Given the description of an element on the screen output the (x, y) to click on. 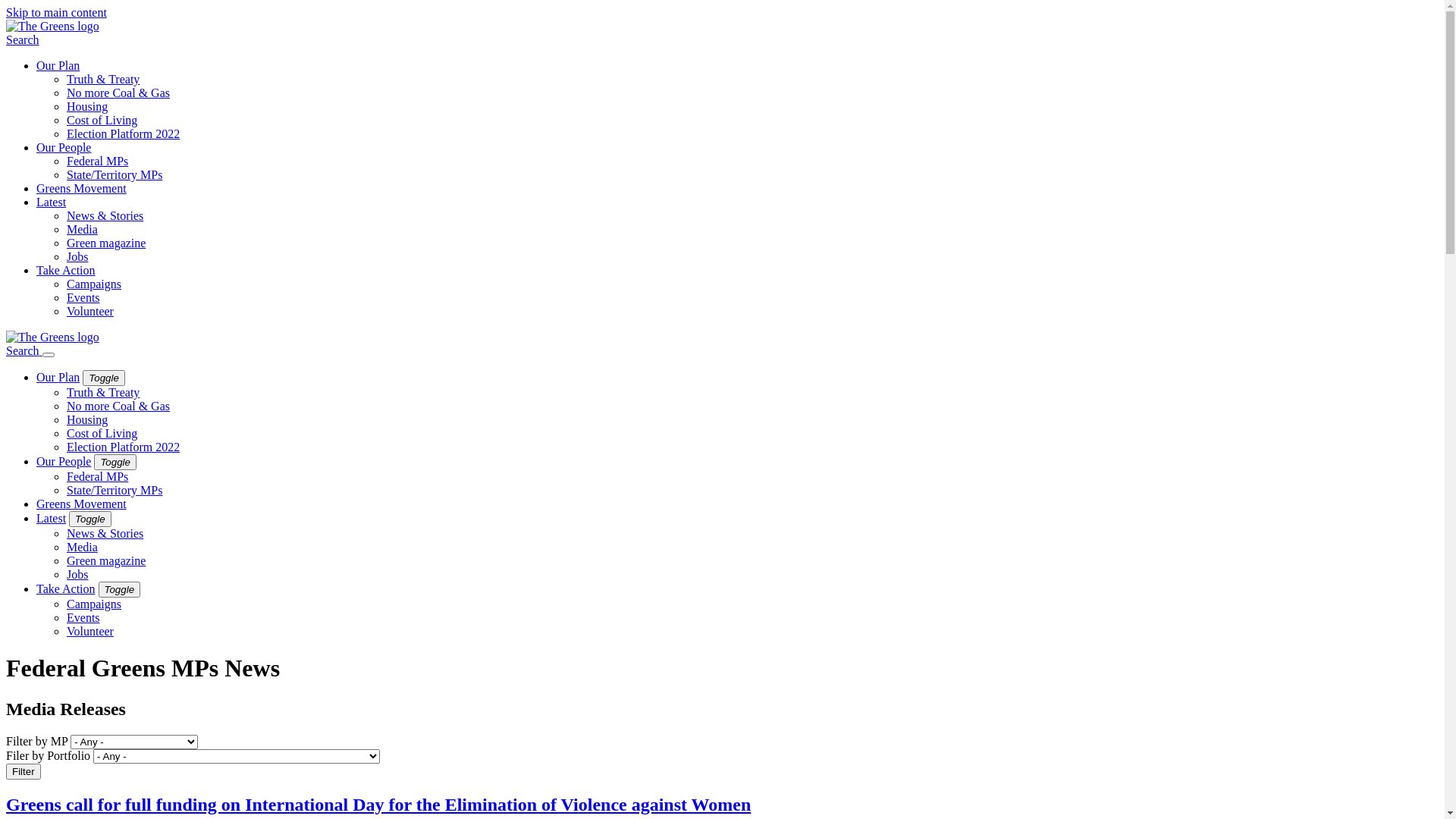
Filter Element type: text (23, 771)
Cost of Living Element type: text (101, 432)
Jobs Element type: text (76, 573)
News & Stories Element type: text (104, 533)
Media Element type: text (81, 228)
Truth & Treaty Element type: text (102, 391)
Our Plan Element type: text (57, 376)
State/Territory MPs Element type: text (114, 489)
Events Element type: text (83, 617)
Latest Element type: text (50, 517)
Our People Element type: text (63, 147)
Toggle Element type: text (90, 519)
No more Coal & Gas Element type: text (117, 405)
Campaigns Element type: text (93, 603)
Events Element type: text (83, 297)
Greens Movement Element type: text (81, 188)
No more Coal & Gas Element type: text (117, 92)
Volunteer Element type: text (89, 630)
Search Element type: text (24, 350)
State/Territory MPs Element type: text (114, 174)
Greens Movement Element type: text (81, 503)
Take Action Element type: text (65, 269)
Media Element type: text (81, 546)
Our Plan Element type: text (57, 65)
Jobs Element type: text (76, 256)
Campaigns Element type: text (93, 283)
Federal MPs Element type: text (97, 476)
Housing Element type: text (86, 419)
Truth & Treaty Element type: text (102, 78)
Cost of Living Element type: text (101, 119)
Skip to main content Element type: text (56, 12)
Green magazine Element type: text (105, 560)
Toggle Element type: text (103, 377)
Latest Element type: text (50, 201)
Election Platform 2022 Element type: text (122, 446)
Our People Element type: text (63, 461)
Take Action Element type: text (65, 588)
Green magazine Element type: text (105, 242)
Housing Element type: text (86, 106)
Search Element type: text (22, 39)
Volunteer Element type: text (89, 310)
Election Platform 2022 Element type: text (122, 133)
Federal MPs Element type: text (97, 160)
News & Stories Element type: text (104, 215)
Toggle Element type: text (119, 589)
Toggle Element type: text (115, 462)
